Given the description of an element on the screen output the (x, y) to click on. 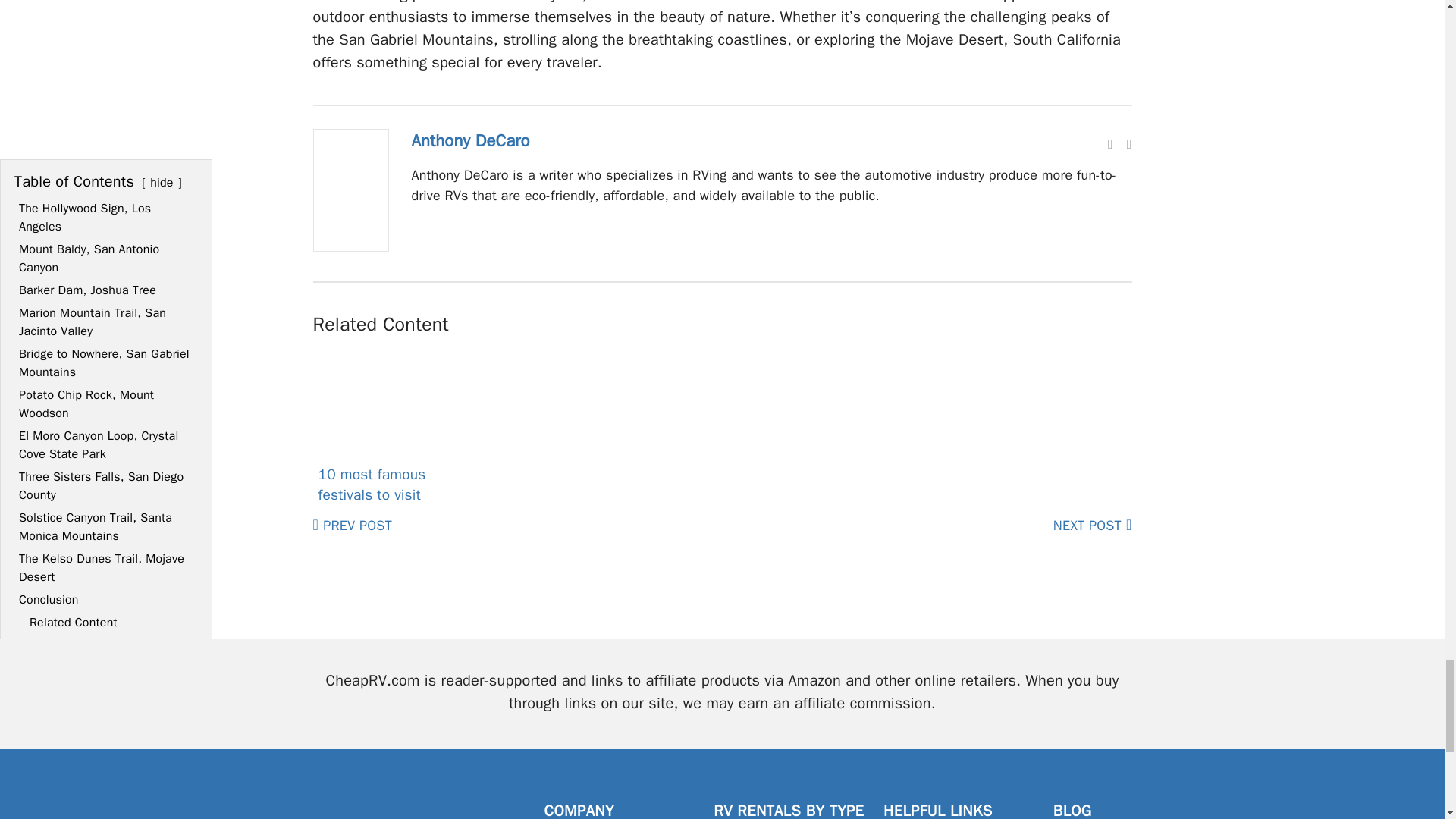
Anthony DeCaro (469, 140)
Anthony DeCaro (350, 246)
